Given the description of an element on the screen output the (x, y) to click on. 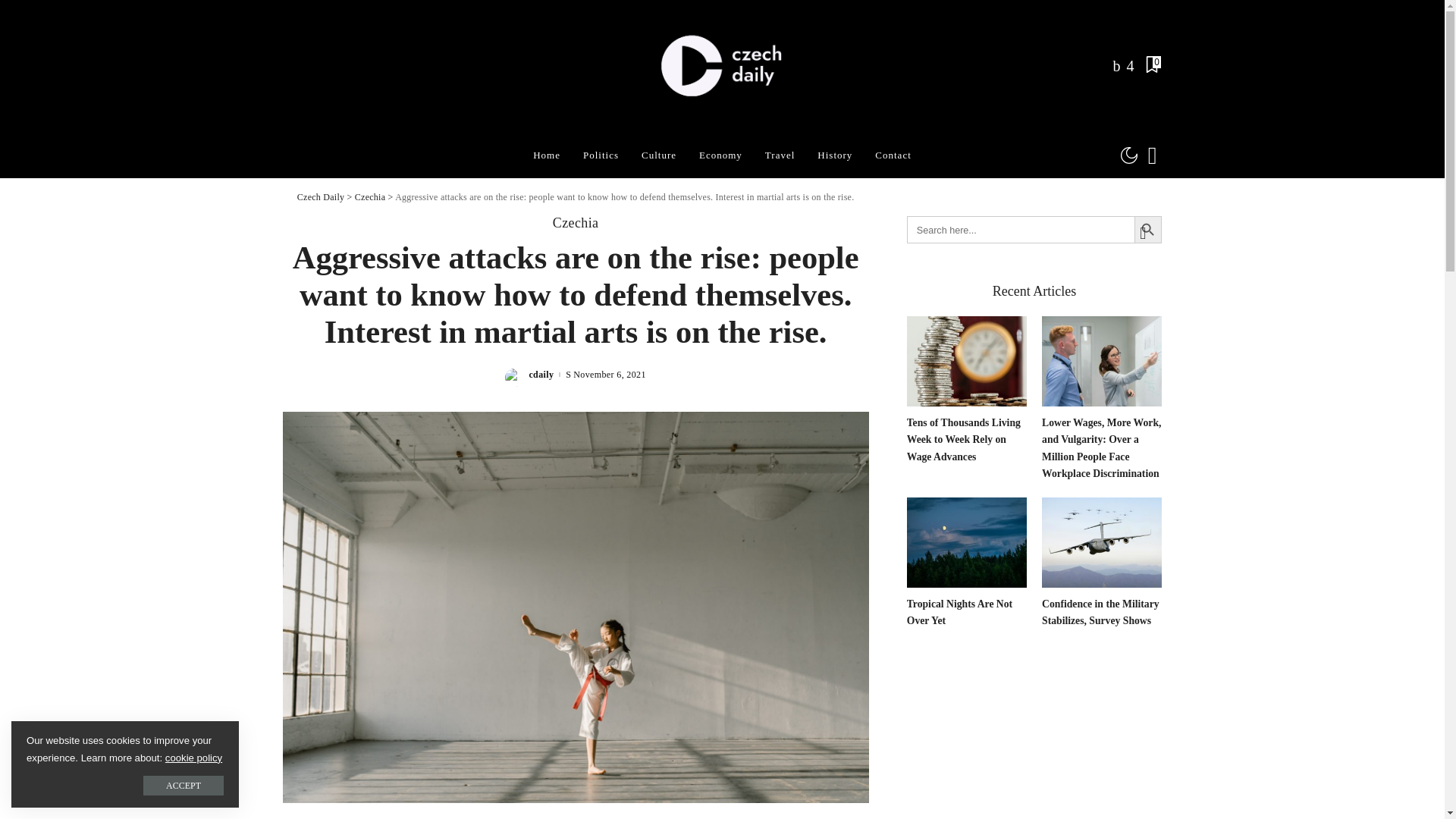
Go to the Czechia category archives. (370, 196)
Culture (658, 155)
Home (546, 155)
Economy (720, 155)
Politics (601, 155)
History (834, 155)
Go to Czech Daily. (320, 196)
Contact (892, 155)
Travel (780, 155)
Czech Daily (722, 66)
